Given the description of an element on the screen output the (x, y) to click on. 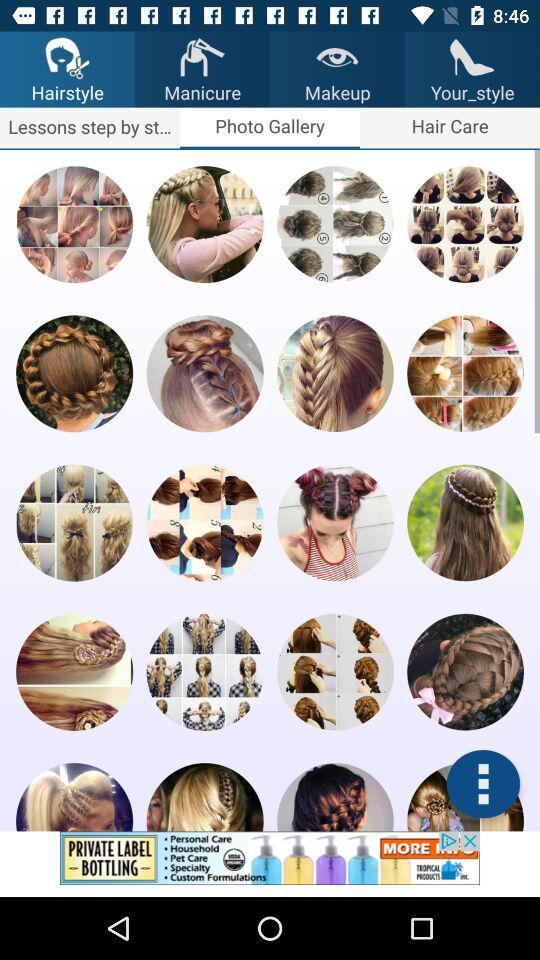
select an hairstyle (204, 797)
